Given the description of an element on the screen output the (x, y) to click on. 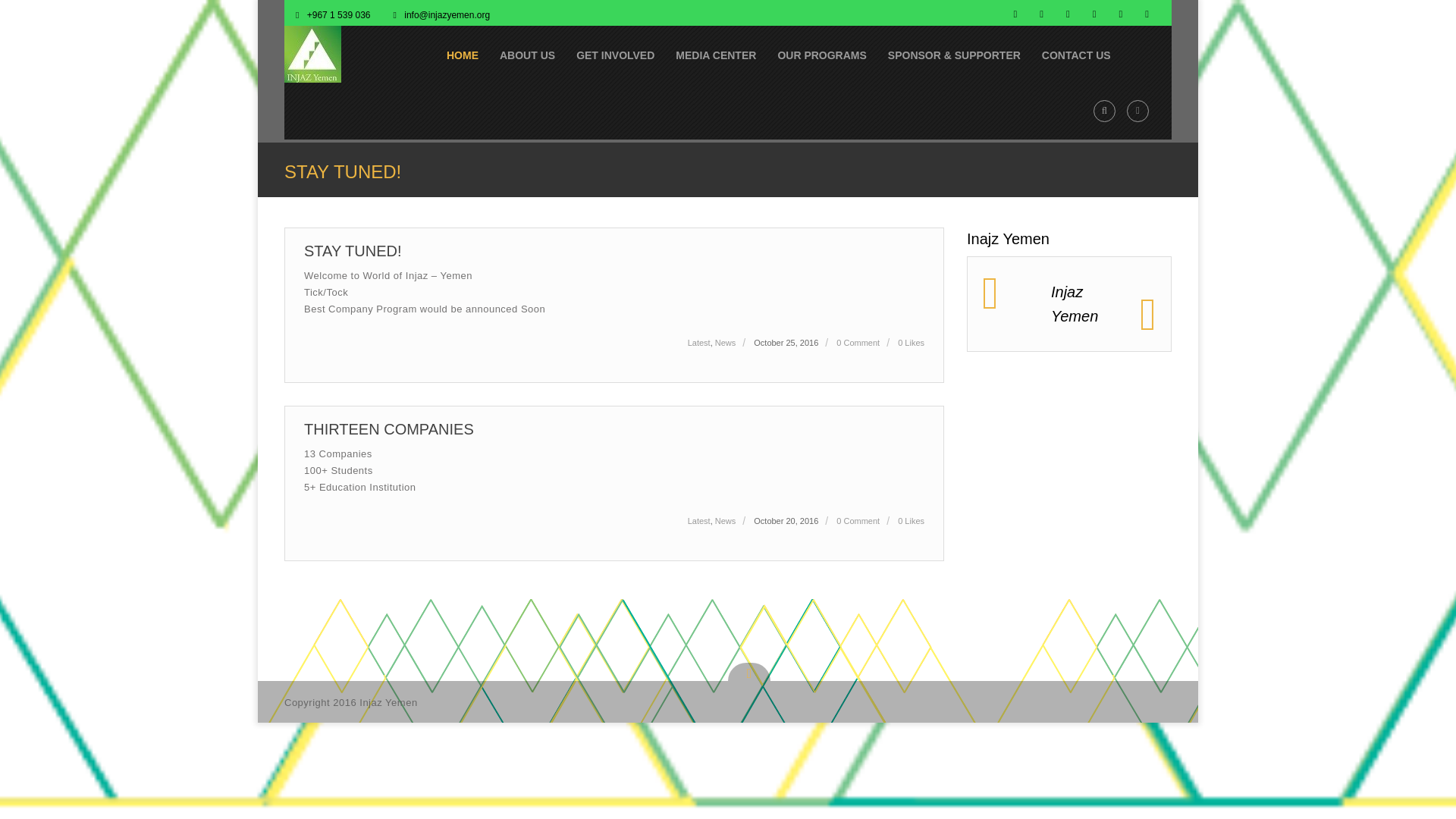
MEDIA CENTER (716, 53)
ABOUT US (527, 53)
HOME (462, 53)
OUR PROGRAMS (821, 53)
GET INVOLVED (615, 53)
